Given the description of an element on the screen output the (x, y) to click on. 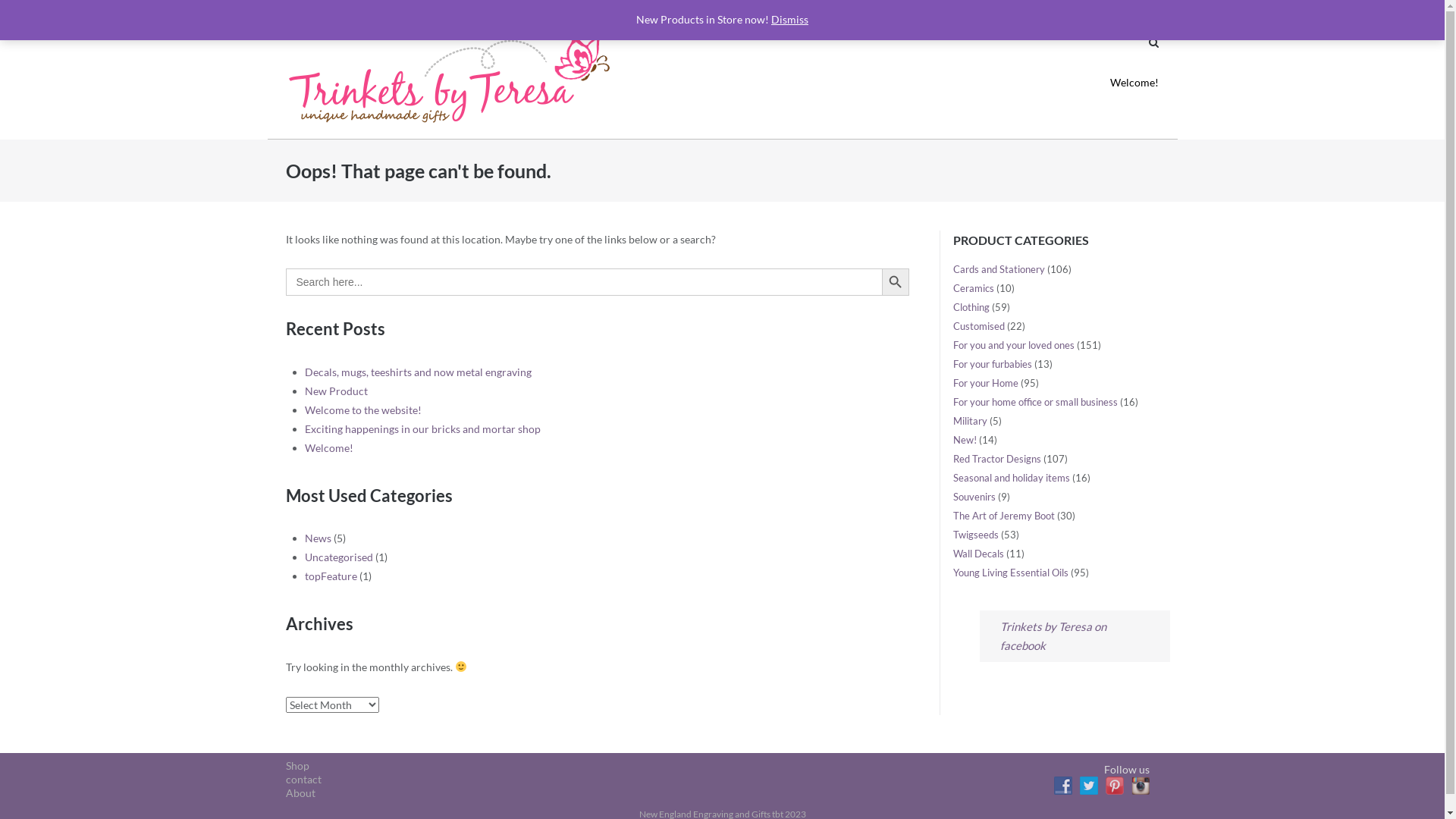
Twitter Element type: hover (1088, 785)
Home Element type: text (806, 12)
Dismiss Element type: text (789, 18)
0 items$0.00 Element type: text (1087, 12)
Red Tractor Designs Element type: text (997, 458)
About Element type: text (300, 792)
About Element type: text (857, 12)
New! Element type: text (964, 439)
Young Living Essential Oils Element type: text (1010, 572)
SEARCH BUTTON Element type: text (895, 281)
Contact Element type: text (958, 12)
Welcome! Element type: text (328, 447)
For you and your loved ones Element type: text (1013, 344)
Military Element type: text (970, 420)
Wall Decals Element type: text (978, 553)
For your furbabies Element type: text (992, 363)
Trinkets by Teresa on facebook Element type: text (1053, 635)
Clothing Element type: text (971, 307)
Store Element type: text (905, 12)
Instagram Element type: hover (1140, 785)
Souvenirs Element type: text (974, 496)
For your Home Element type: text (985, 382)
For your home office or small business Element type: text (1035, 401)
Customised Element type: text (978, 326)
News Element type: text (317, 537)
Uncategorised Element type: text (338, 556)
New Product Element type: text (335, 390)
contact Element type: text (303, 778)
Seasonal and holiday items Element type: text (1011, 477)
News Element type: text (1011, 12)
Exciting happenings in our bricks and mortar shop Element type: text (422, 428)
Welcome to the website! Element type: text (362, 409)
Ceramics Element type: text (973, 288)
Twigseeds Element type: text (975, 534)
Welcome! Element type: text (1134, 82)
Decals, mugs, teeshirts and now metal engraving Element type: text (417, 371)
topFeature Element type: text (330, 575)
Facebook Element type: hover (1063, 785)
Pinterest Element type: hover (1114, 785)
Cards and Stationery Element type: text (998, 269)
The Art of Jeremy Boot Element type: text (1003, 515)
Shop Element type: text (297, 765)
